Given the description of an element on the screen output the (x, y) to click on. 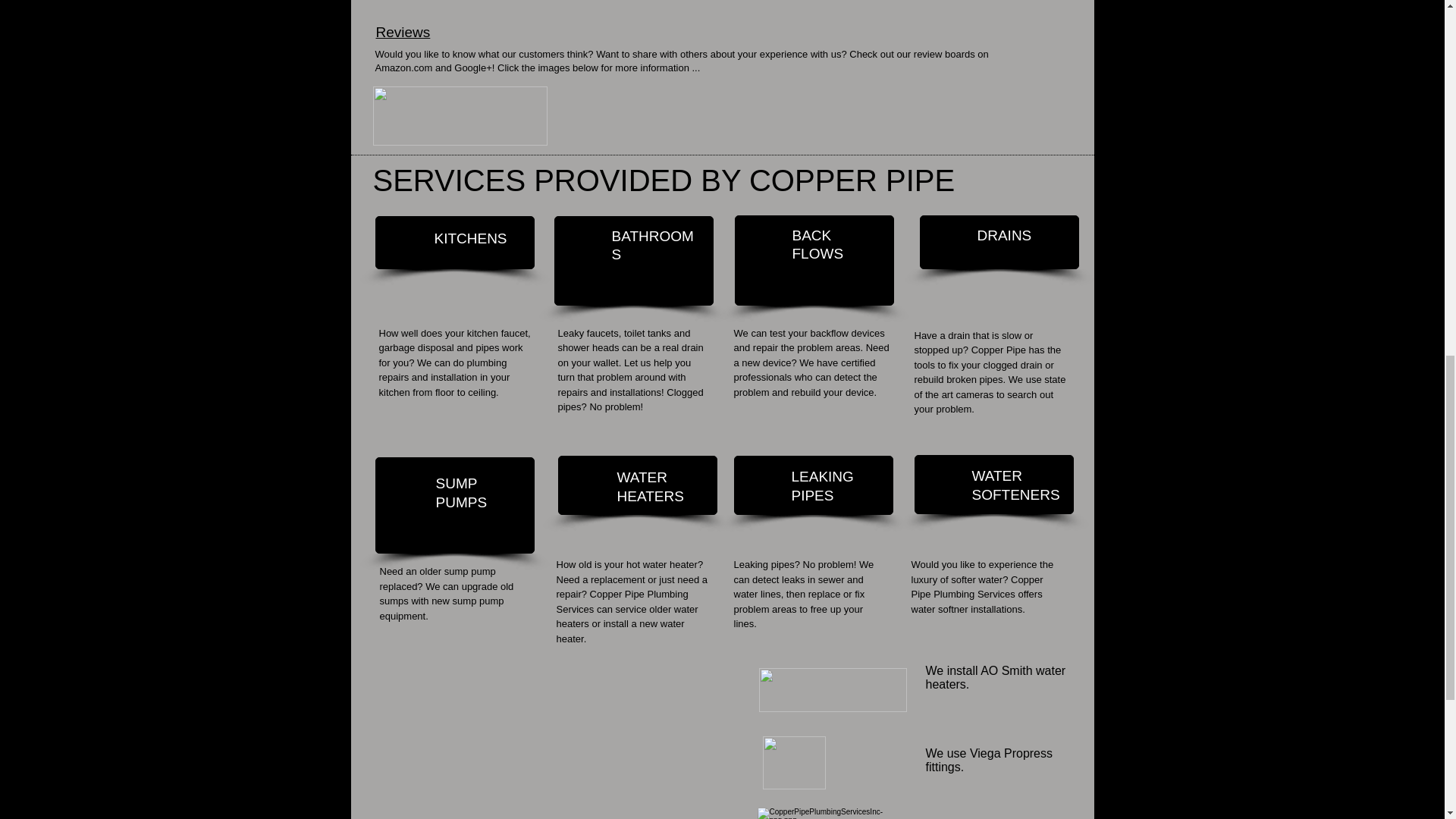
DRAINS (1003, 235)
SUMP PUMPS  (462, 492)
WATER SOFTENERS (1015, 484)
External YouTube (563, 743)
KITCHENS (469, 238)
BACK FLOWS (817, 244)
LEAKING PIPES  (822, 485)
WATER HEATERS (650, 486)
